Given the description of an element on the screen output the (x, y) to click on. 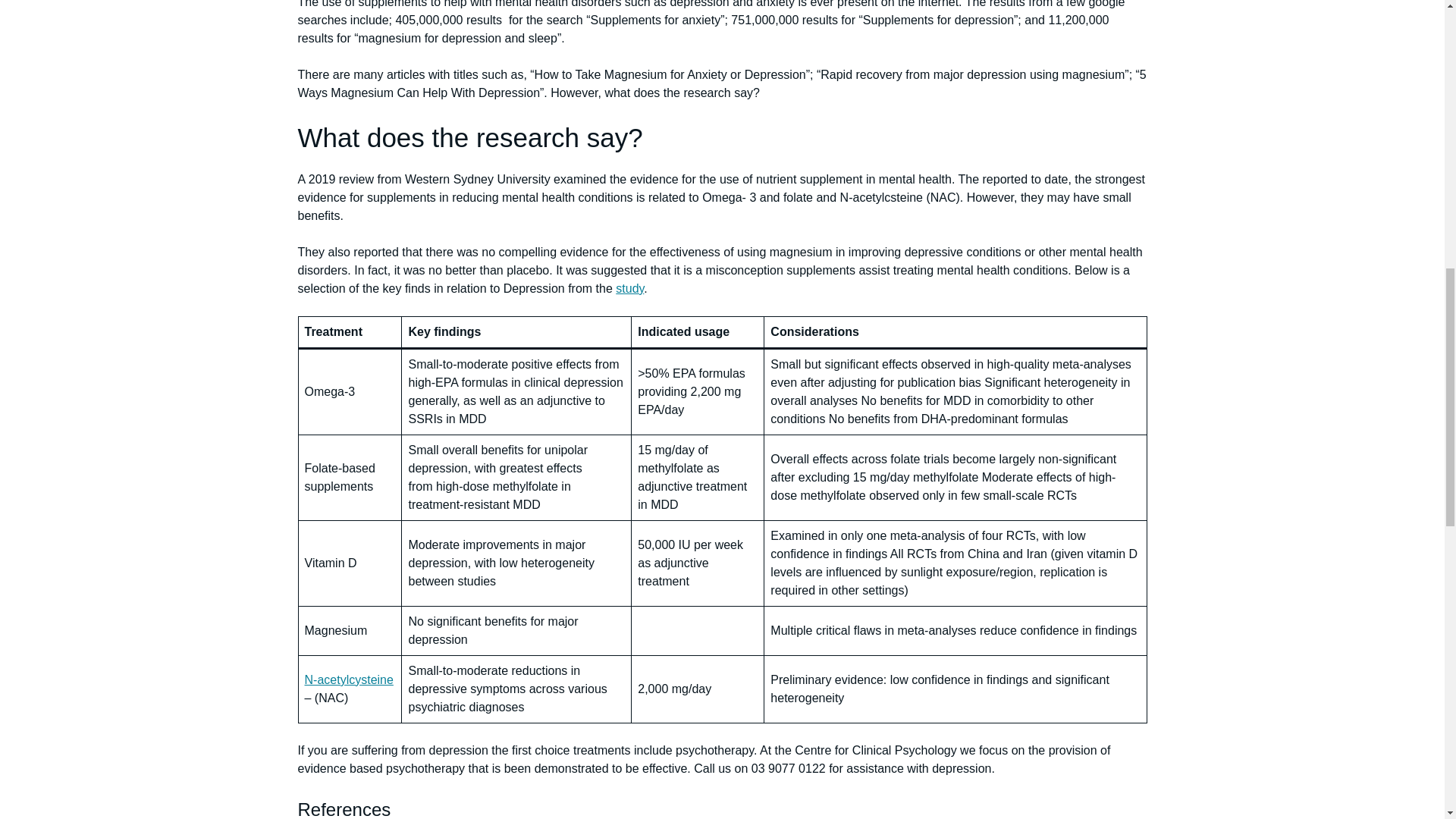
N-acetylcysteine (348, 679)
study (629, 287)
